Given the description of an element on the screen output the (x, y) to click on. 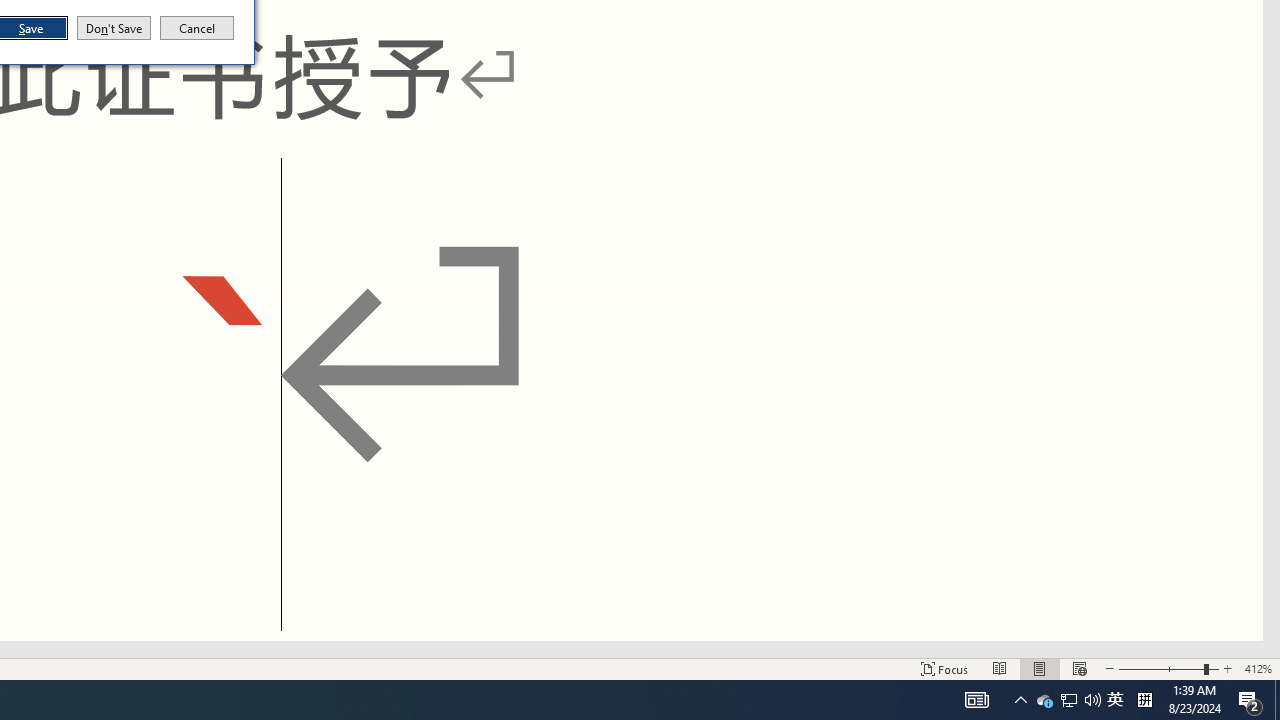
Zoom 412% (1258, 668)
Don't Save (1115, 699)
